Given the description of an element on the screen output the (x, y) to click on. 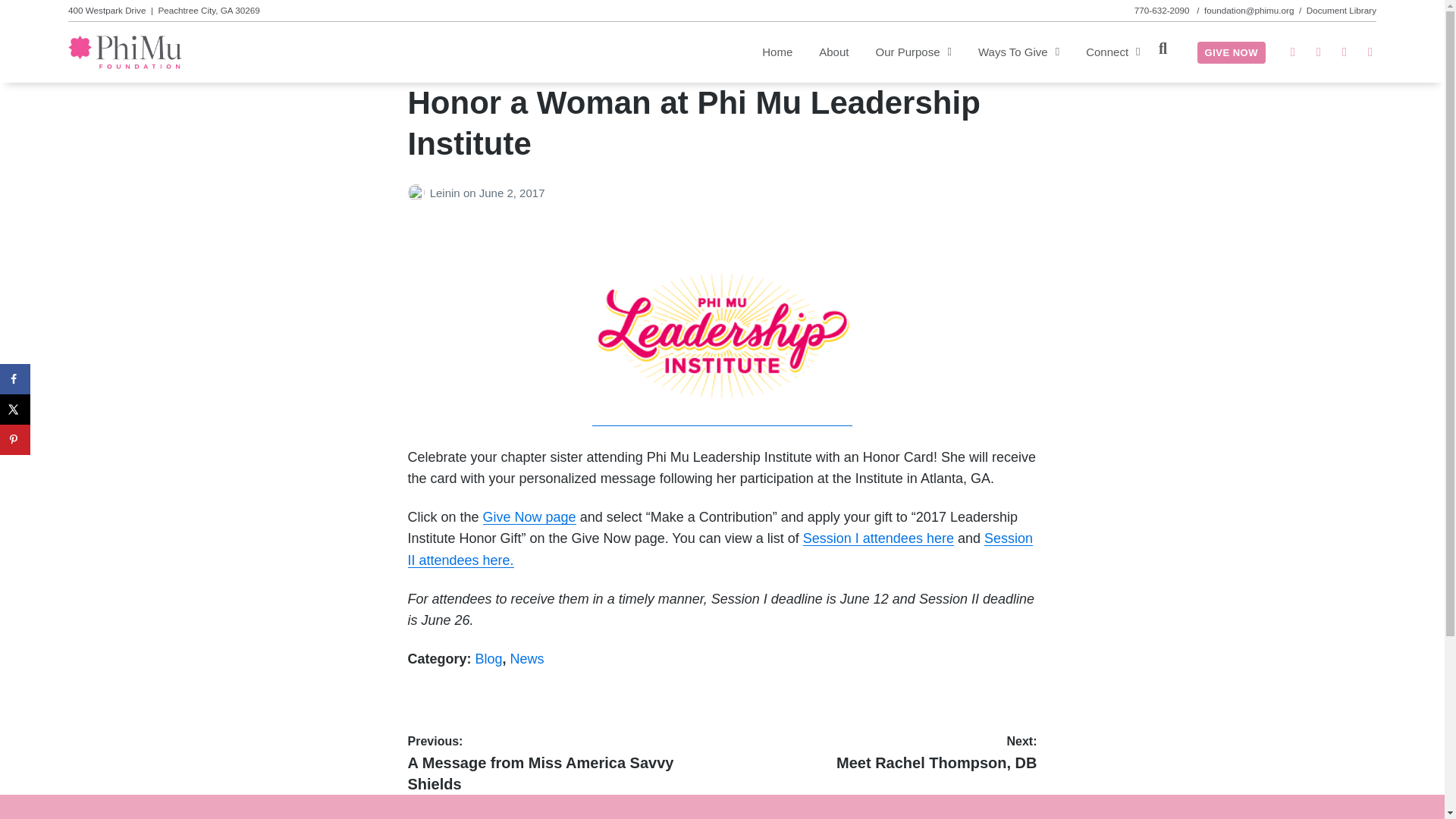
Share on Facebook (15, 378)
Connect (1113, 52)
GIVE NOW (1230, 52)
Ways To Give (1018, 52)
Our Purpose (913, 52)
Share on X (15, 409)
Home (776, 52)
About (833, 52)
Document Library (1340, 9)
Save to Pinterest (15, 440)
